Given the description of an element on the screen output the (x, y) to click on. 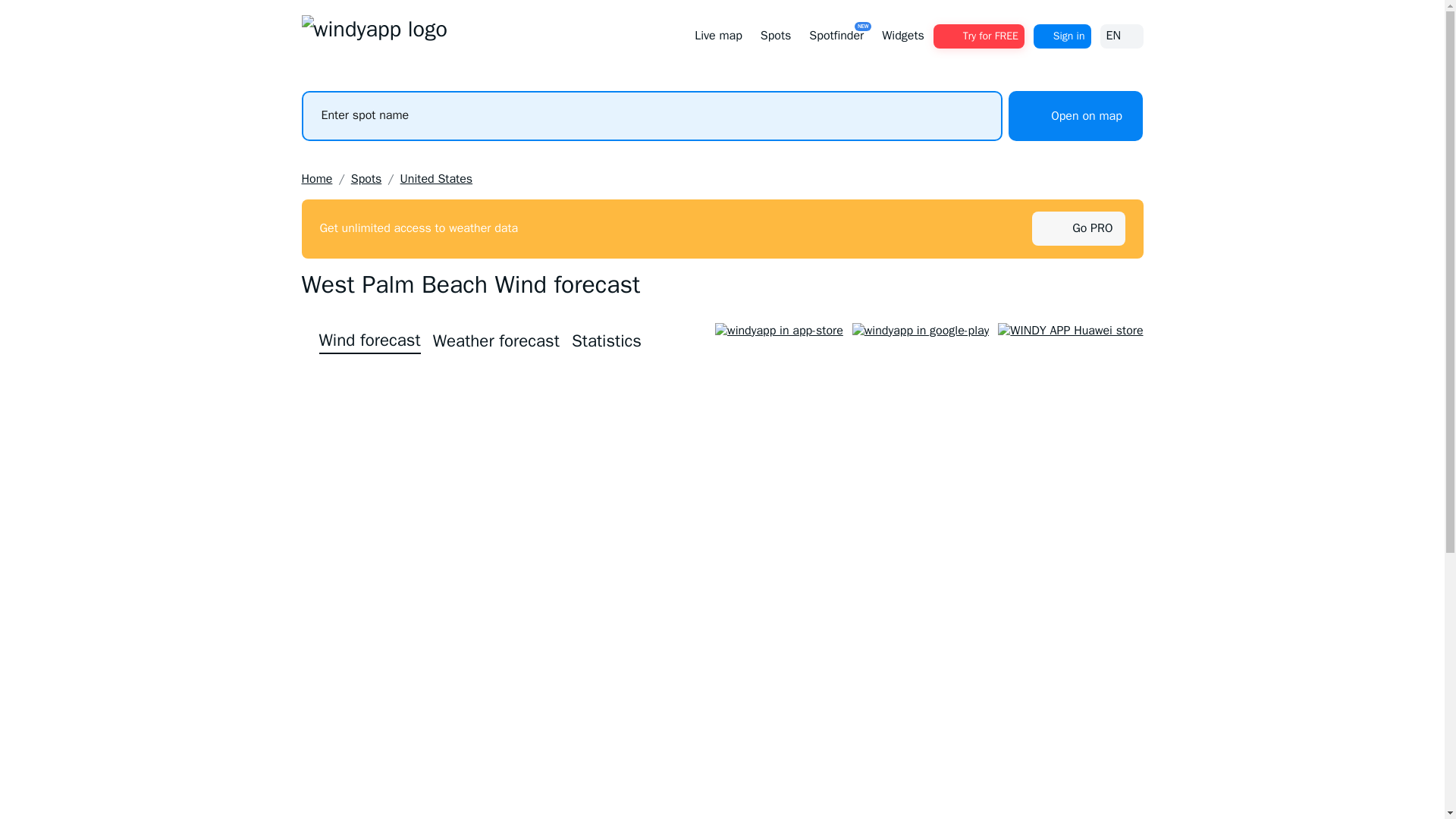
Sign in (1061, 36)
Spots (365, 178)
Try for FREE (979, 36)
Widgets (902, 35)
Weather forecast (495, 341)
Go PRO (1077, 228)
Live map (718, 35)
United States (436, 178)
Go PRO (1091, 228)
Home (317, 178)
